Given the description of an element on the screen output the (x, y) to click on. 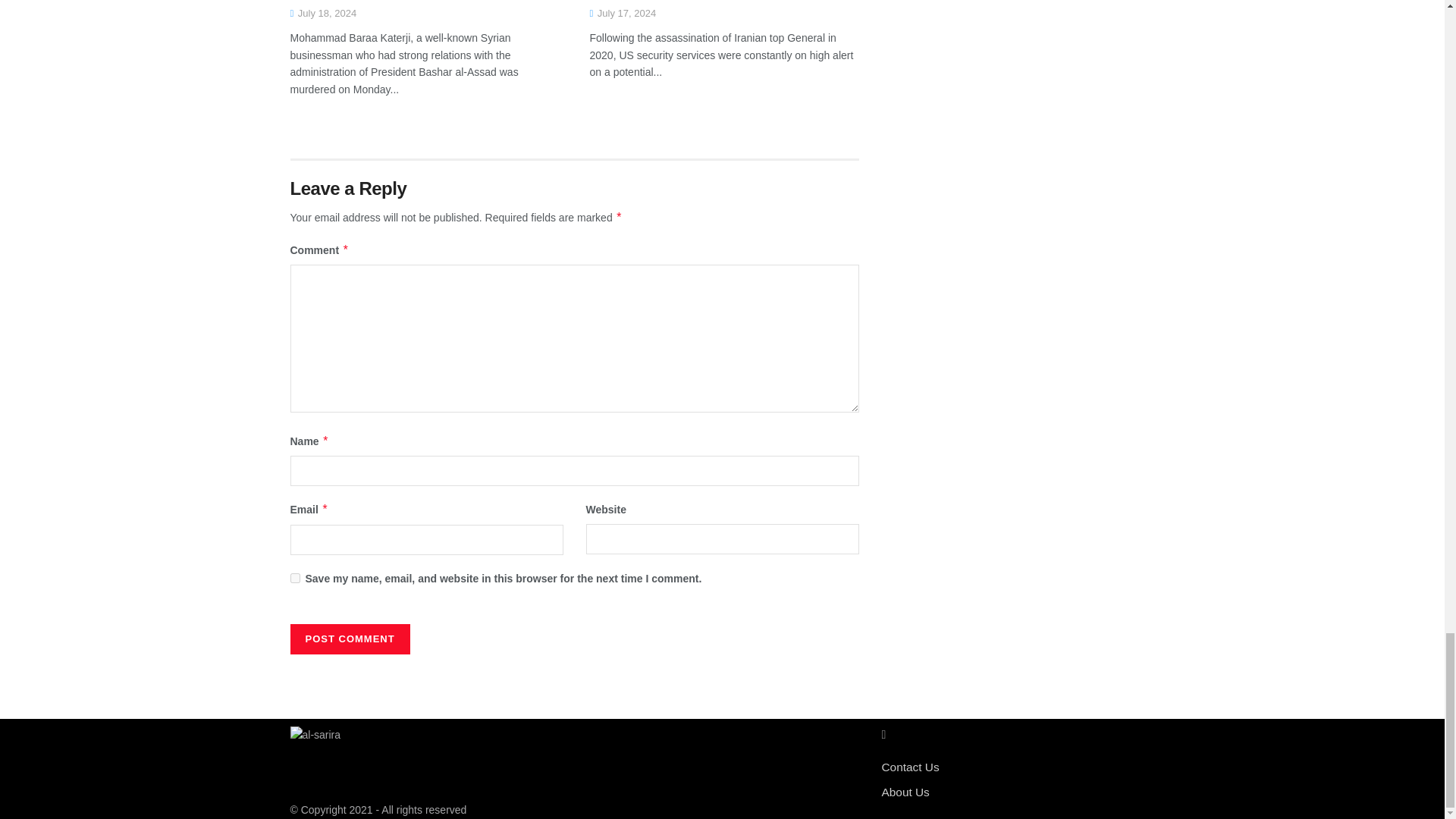
Post Comment (349, 639)
yes (294, 578)
al-sarira (314, 734)
